Given the description of an element on the screen output the (x, y) to click on. 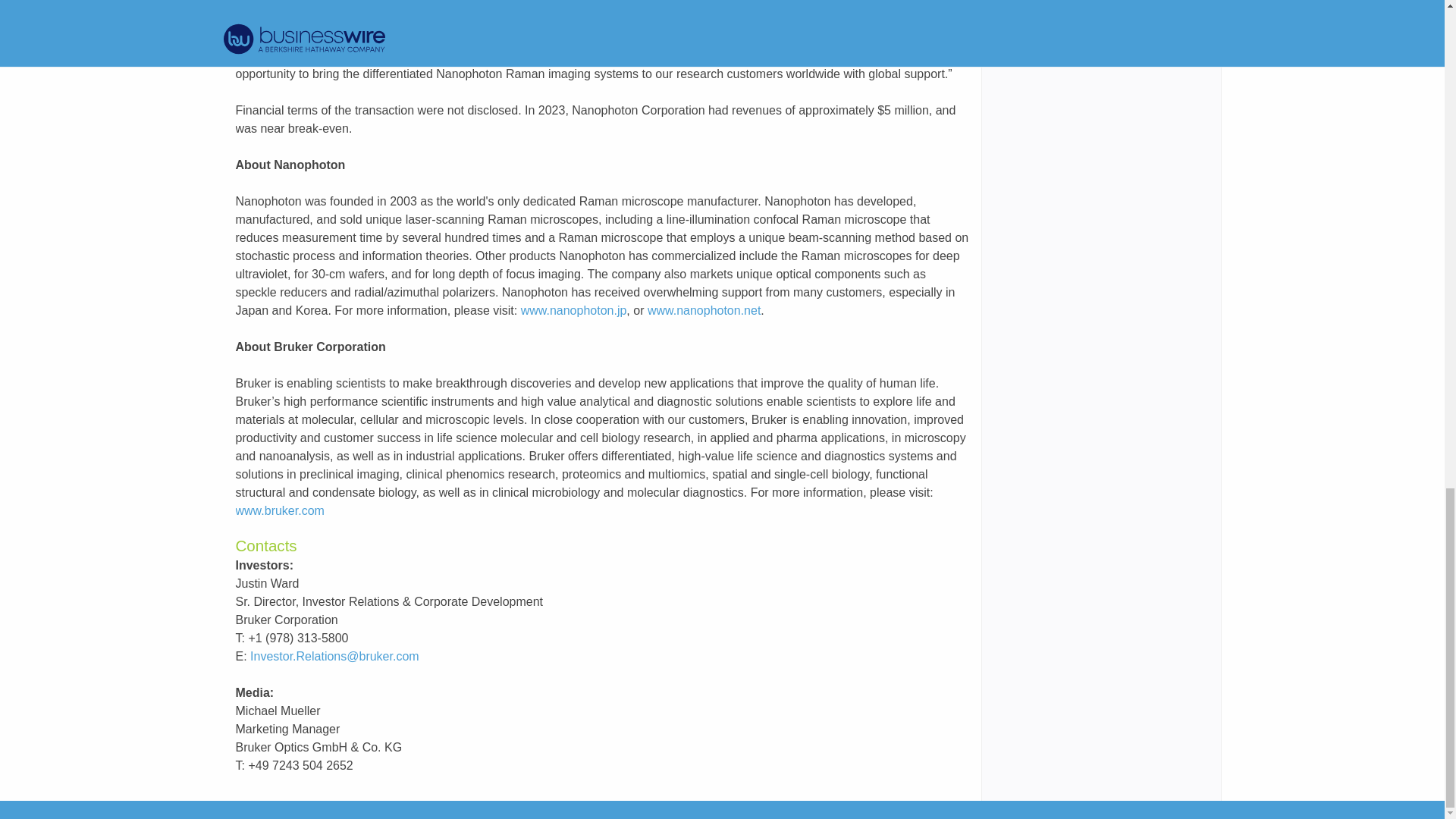
www.bruker.com (278, 510)
www.nanophoton.net (703, 309)
www.nanophoton.jp (574, 309)
